Given the description of an element on the screen output the (x, y) to click on. 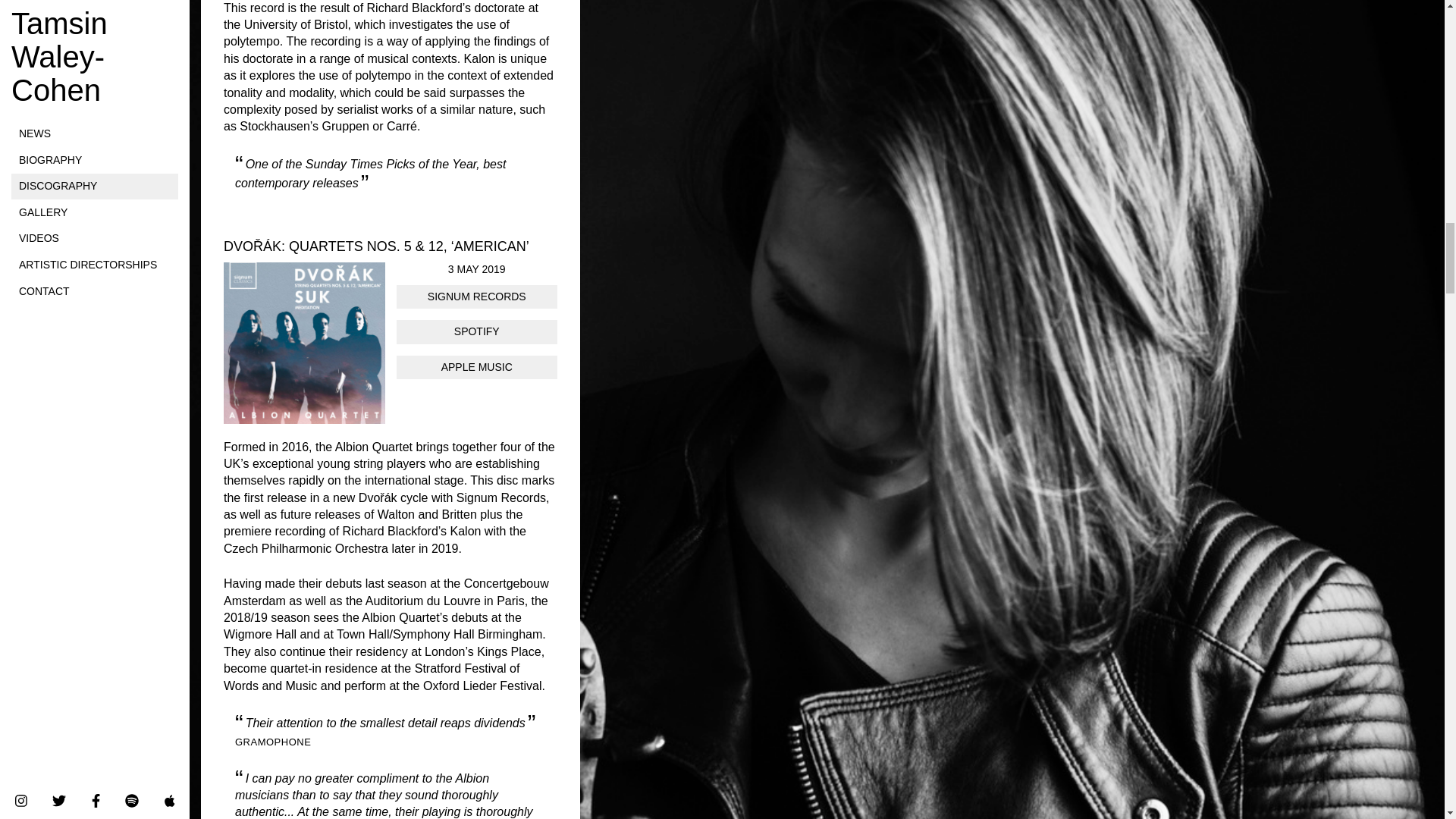
SIGNUM RECORDS (476, 297)
APPLE MUSIC (476, 367)
SPOTIFY (476, 331)
